Given the description of an element on the screen output the (x, y) to click on. 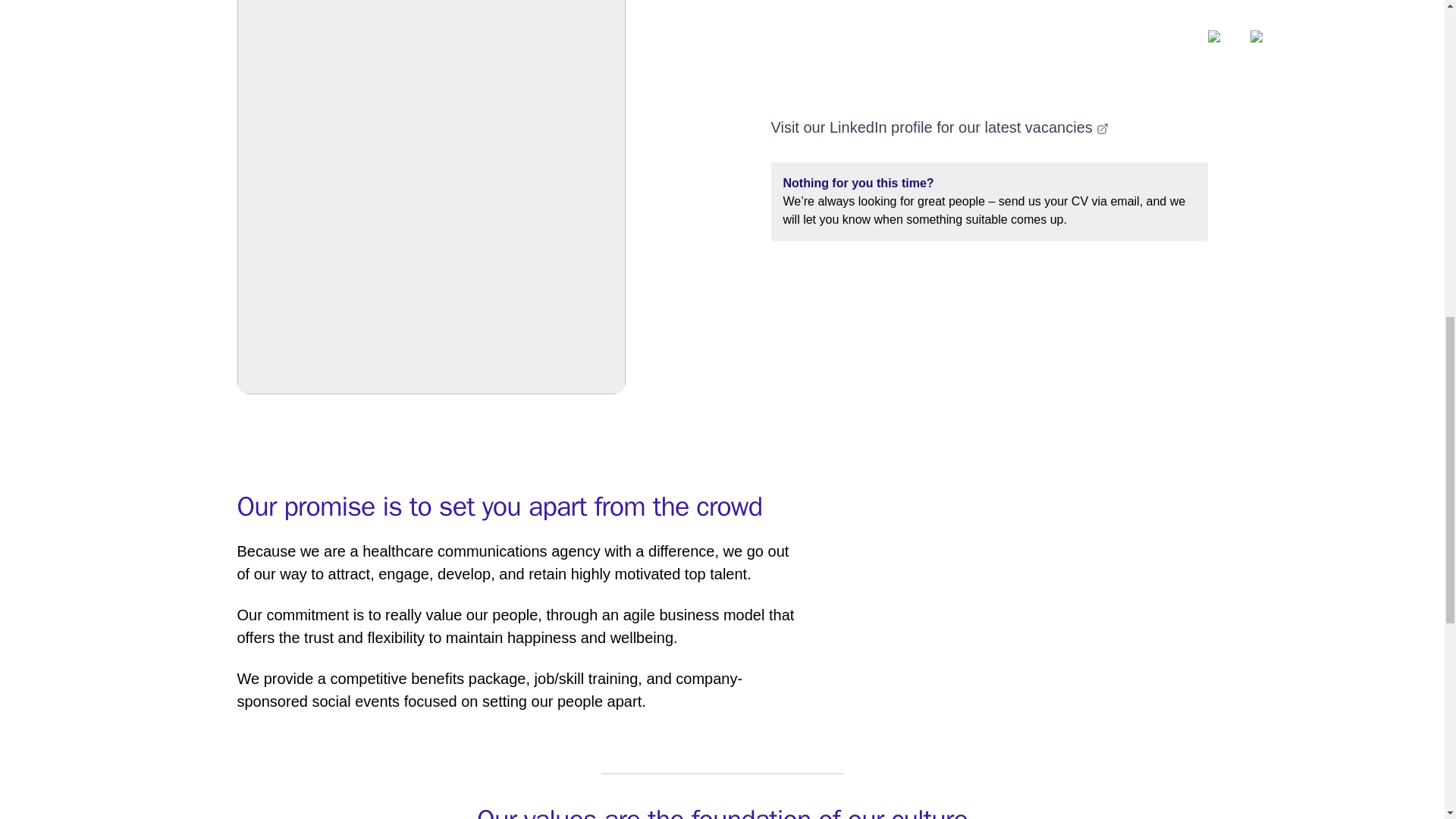
Visit our LinkedIn profile for our latest vacancies (939, 126)
